Given the description of an element on the screen output the (x, y) to click on. 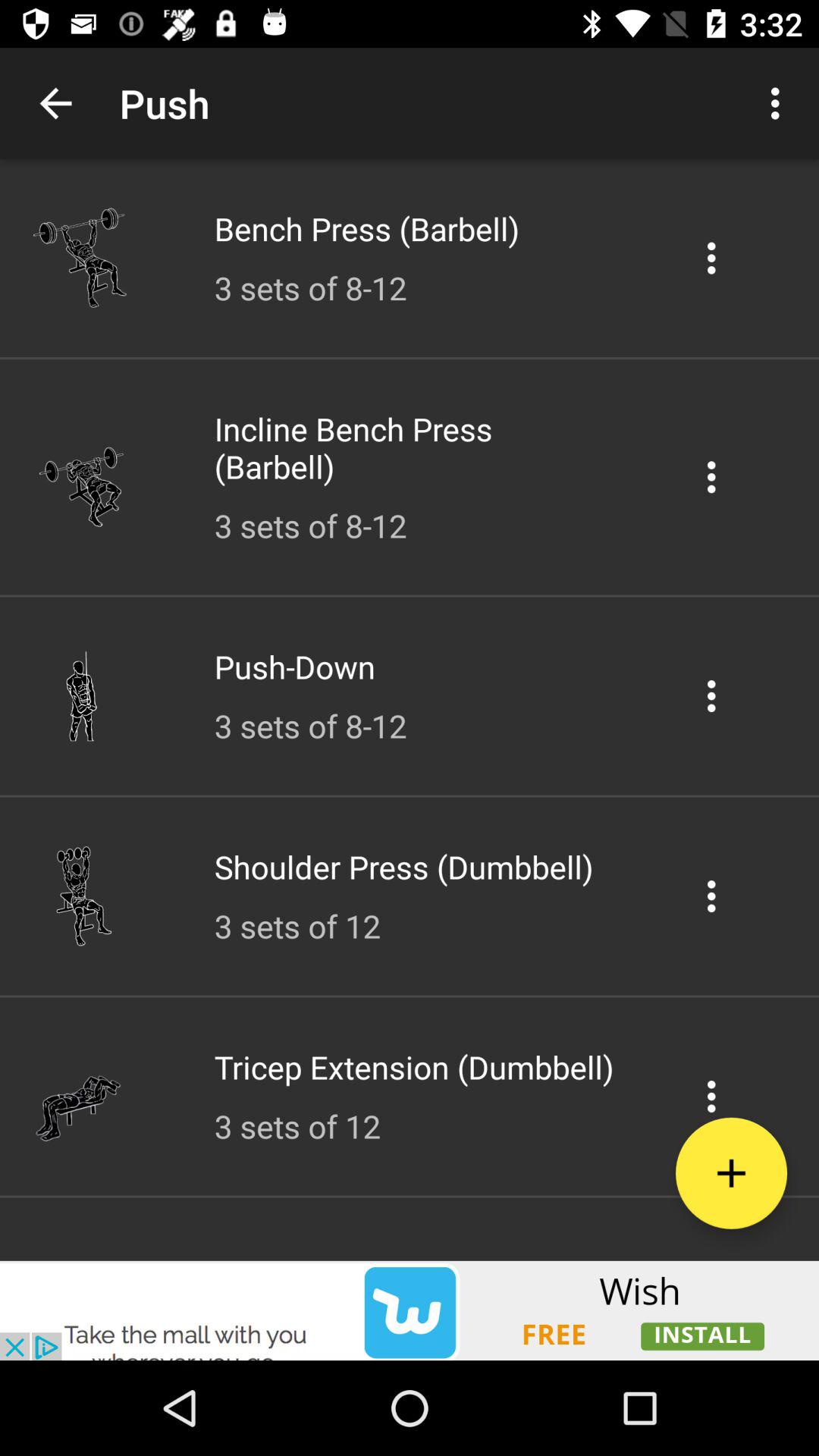
comment (711, 477)
